Given the description of an element on the screen output the (x, y) to click on. 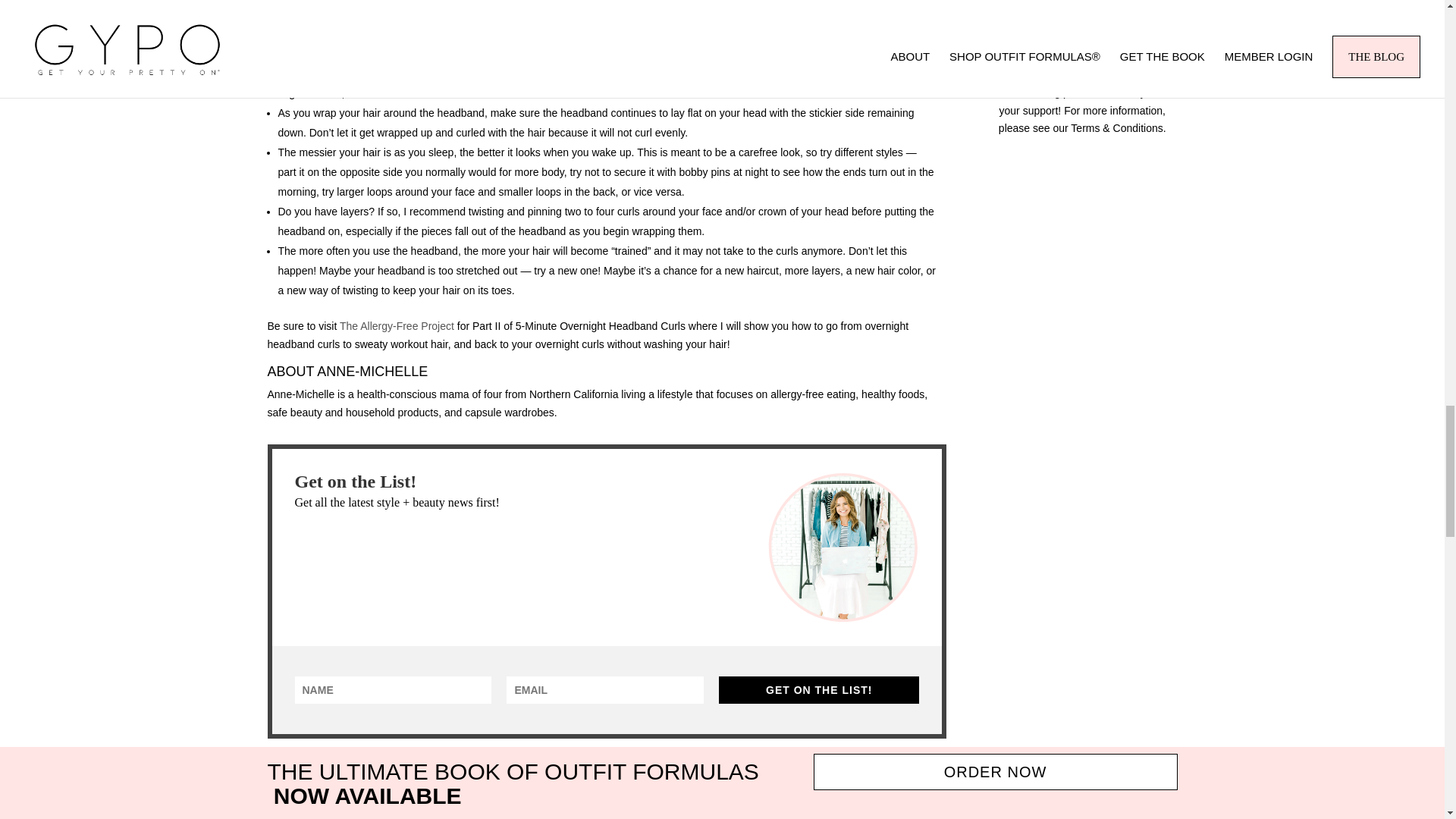
GET ON THE LIST! (818, 689)
The Allergy-Free Project (396, 326)
